Given the description of an element on the screen output the (x, y) to click on. 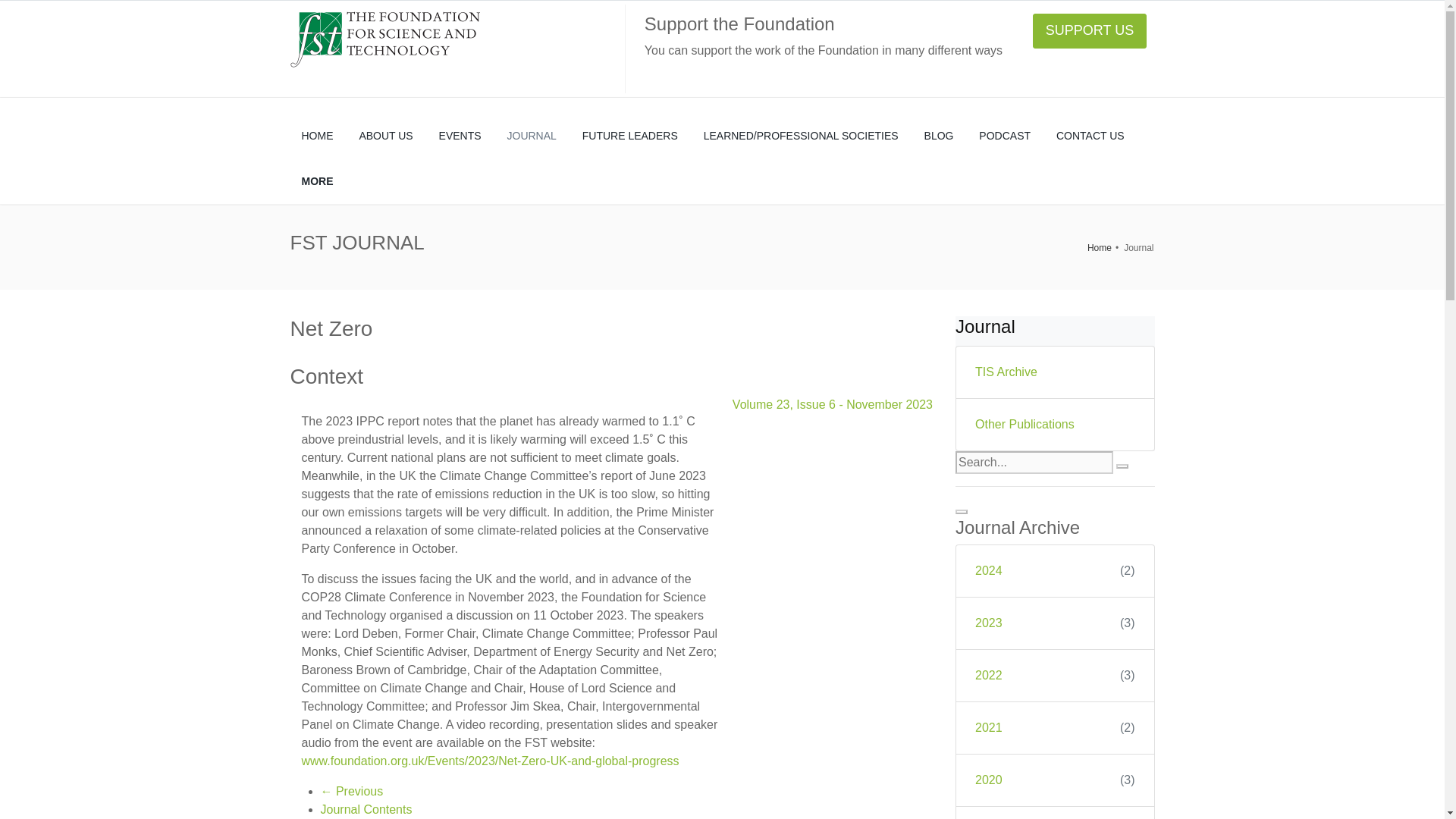
PODCAST (1005, 135)
FUTURE LEADERS (629, 135)
MORE (316, 180)
EVENTS (460, 135)
CONTACT US (1090, 135)
SUPPORT US (1089, 30)
JOURNAL (531, 135)
HOME (316, 135)
ABOUT US (385, 135)
BLOG (938, 135)
